Given the description of an element on the screen output the (x, y) to click on. 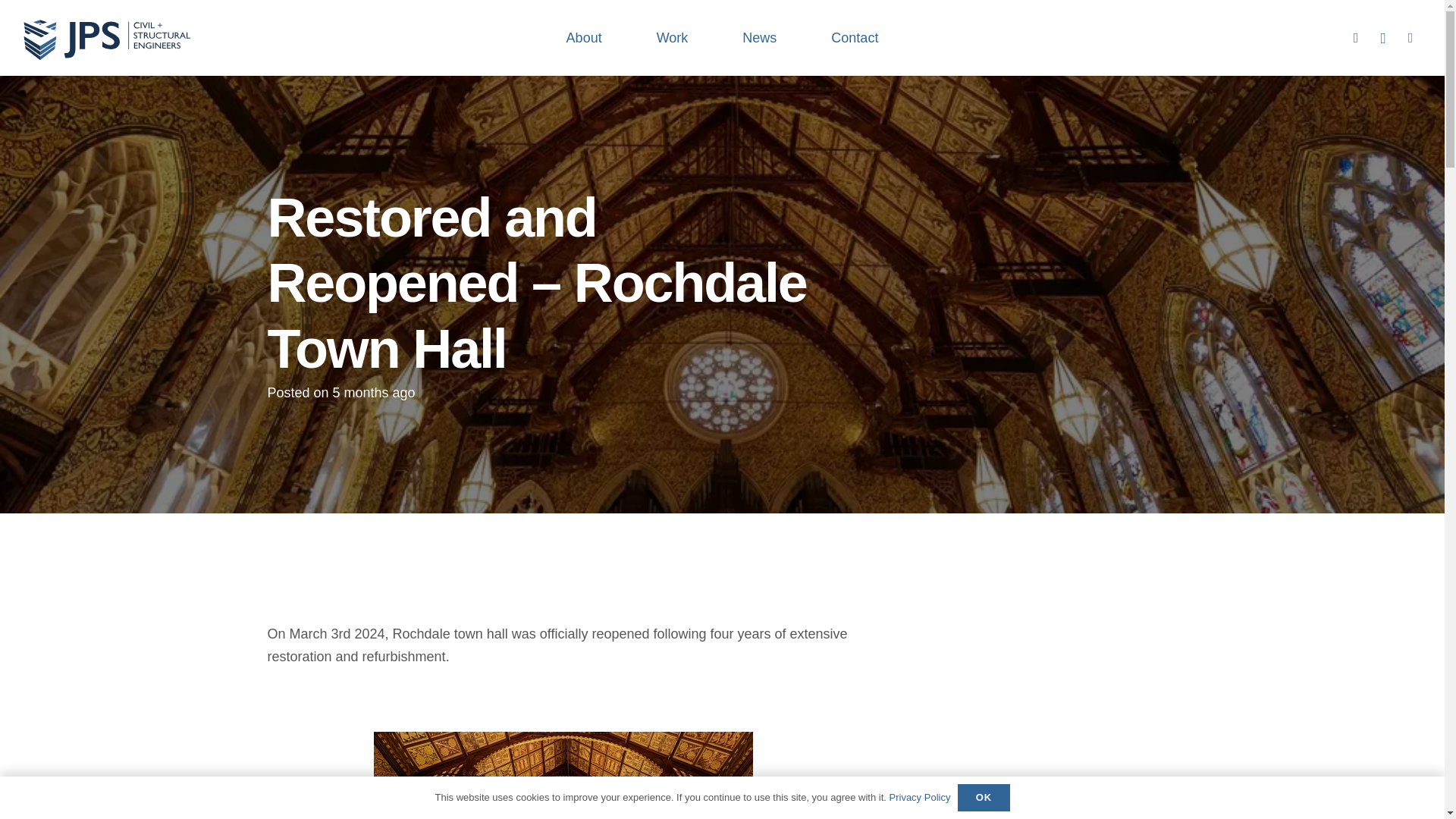
Work (672, 38)
Facebook (1409, 37)
LinkedIn (1356, 37)
Privacy Policy (919, 797)
OK (983, 797)
Instagram (1383, 37)
About (583, 38)
News (758, 38)
Contact (854, 38)
